Given the description of an element on the screen output the (x, y) to click on. 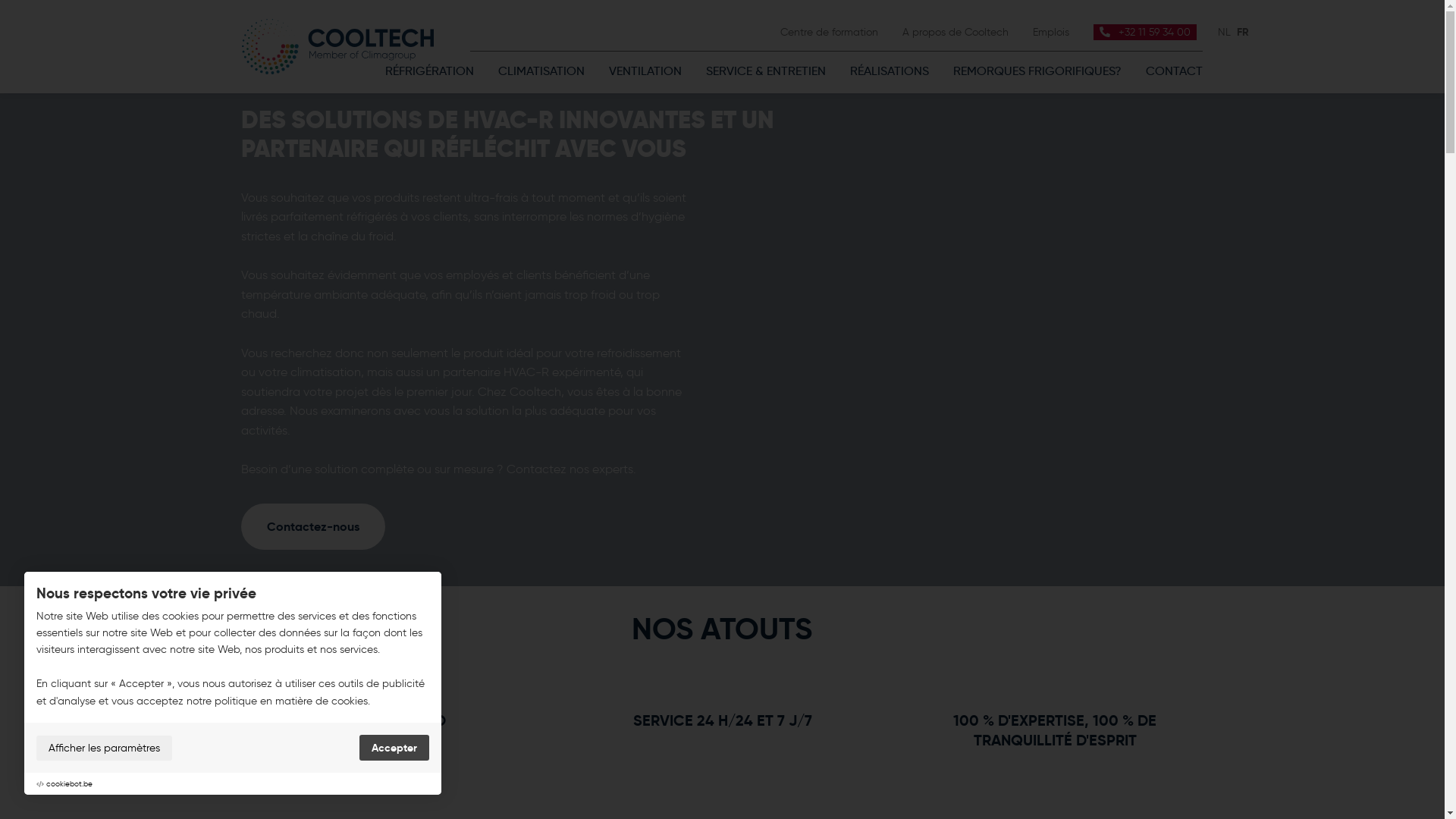
Cooltech Element type: text (337, 46)
+32 11 59 34 00 Element type: text (1144, 31)
REMORQUES FRIGORIFIQUES? Element type: text (1037, 70)
Emplois Element type: text (1050, 31)
A propos de Cooltech Element type: text (955, 31)
CONTACT Element type: text (1167, 70)
CLIMATISATION Element type: text (541, 70)
Contactez-nous Element type: text (313, 526)
FR Element type: text (1242, 30)
VENTILATION Element type: text (644, 70)
NL Element type: text (1223, 31)
SERVICE & ENTRETIEN Element type: text (765, 70)
cookiebot.be Element type: text (69, 783)
Centre de formation Element type: text (829, 31)
Accepter Element type: text (394, 747)
